Given the description of an element on the screen output the (x, y) to click on. 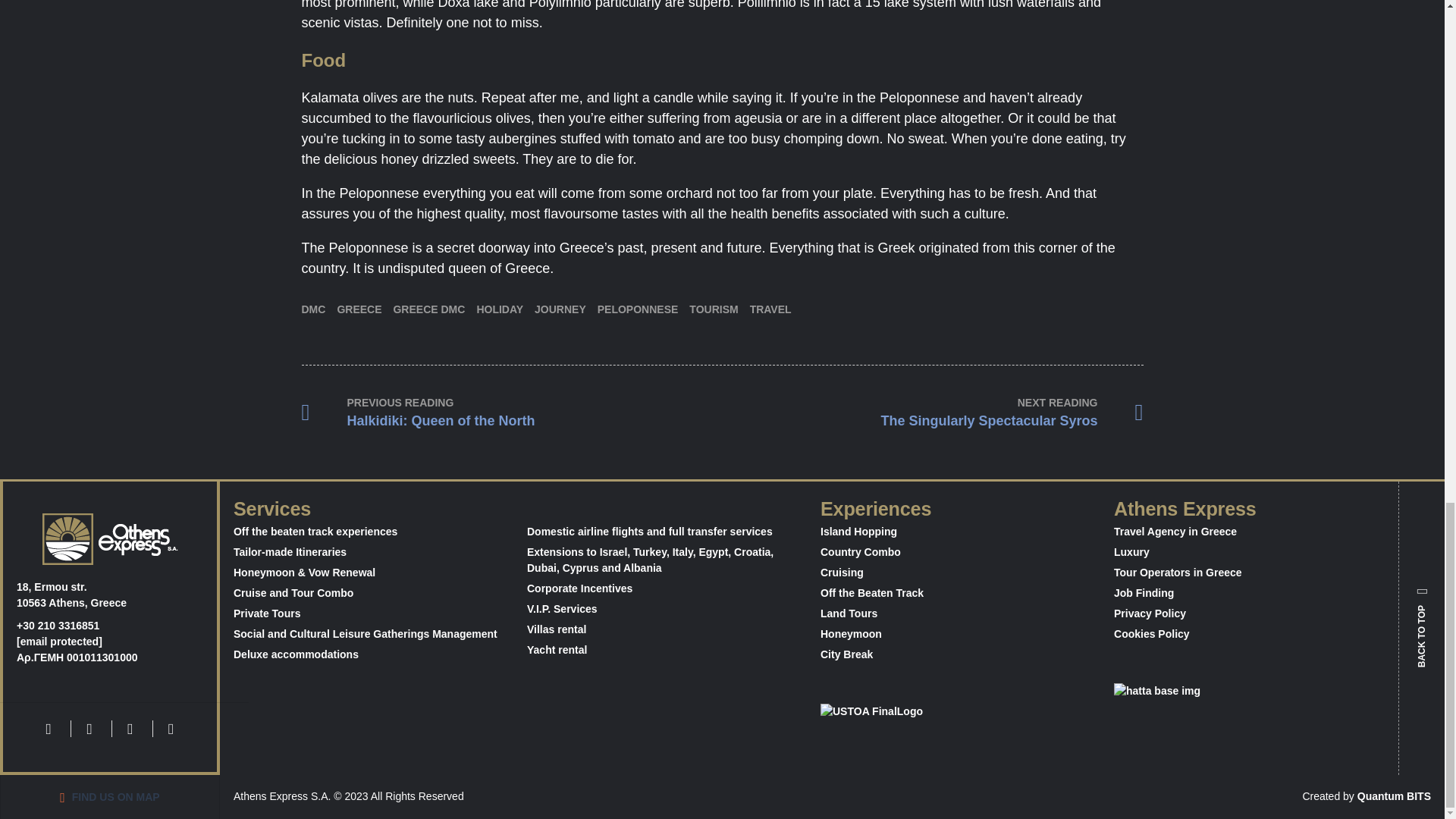
JOURNEY (932, 412)
hatta base img (560, 309)
TRAVEL (511, 412)
GREECE DMC (1189, 700)
GREECE (770, 309)
HOLIDAY (428, 309)
DMC (358, 309)
USTOA FinalLogo (499, 309)
